Given the description of an element on the screen output the (x, y) to click on. 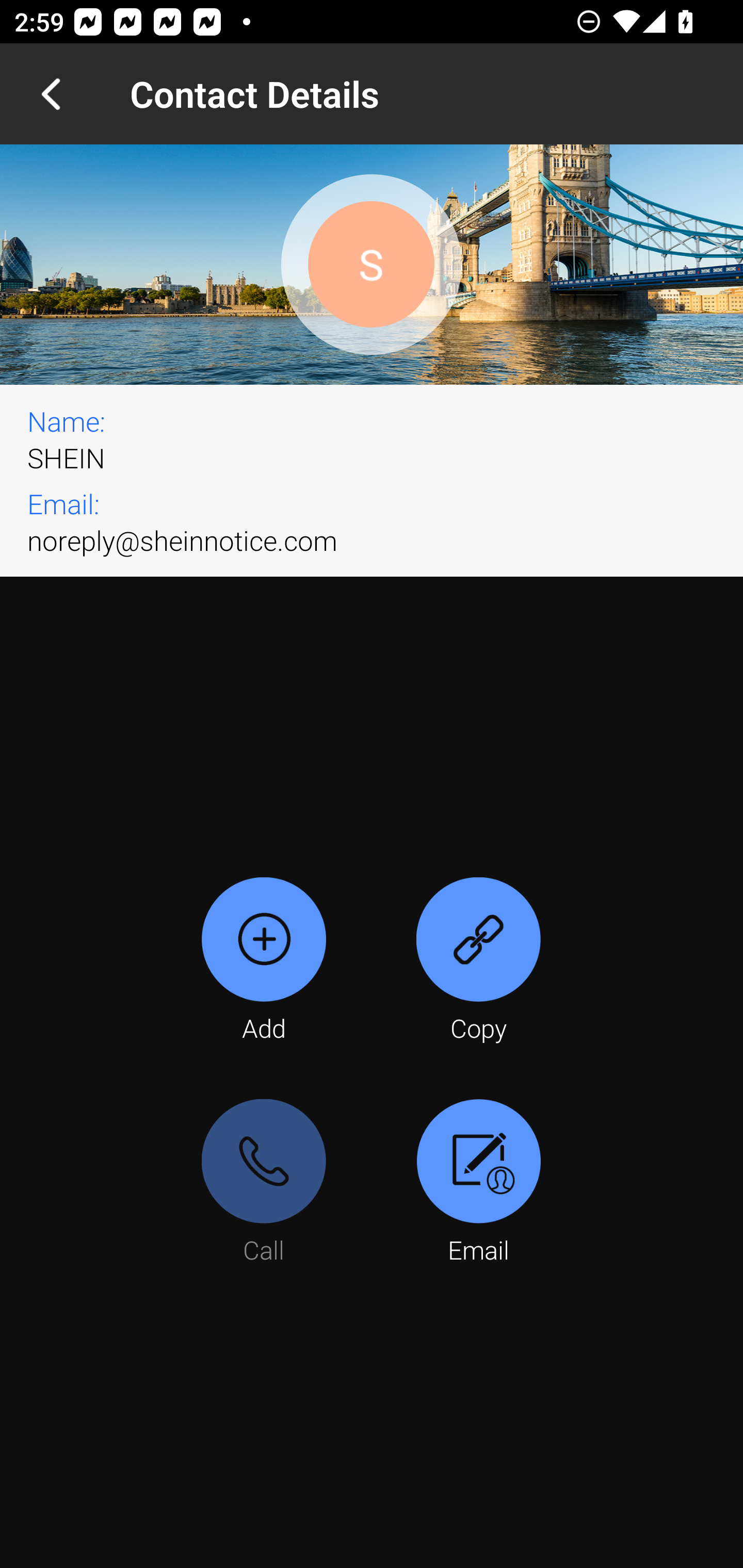
Navigate up (50, 93)
Add (264, 961)
Copy (478, 961)
Call (264, 1182)
Email (478, 1182)
